Given the description of an element on the screen output the (x, y) to click on. 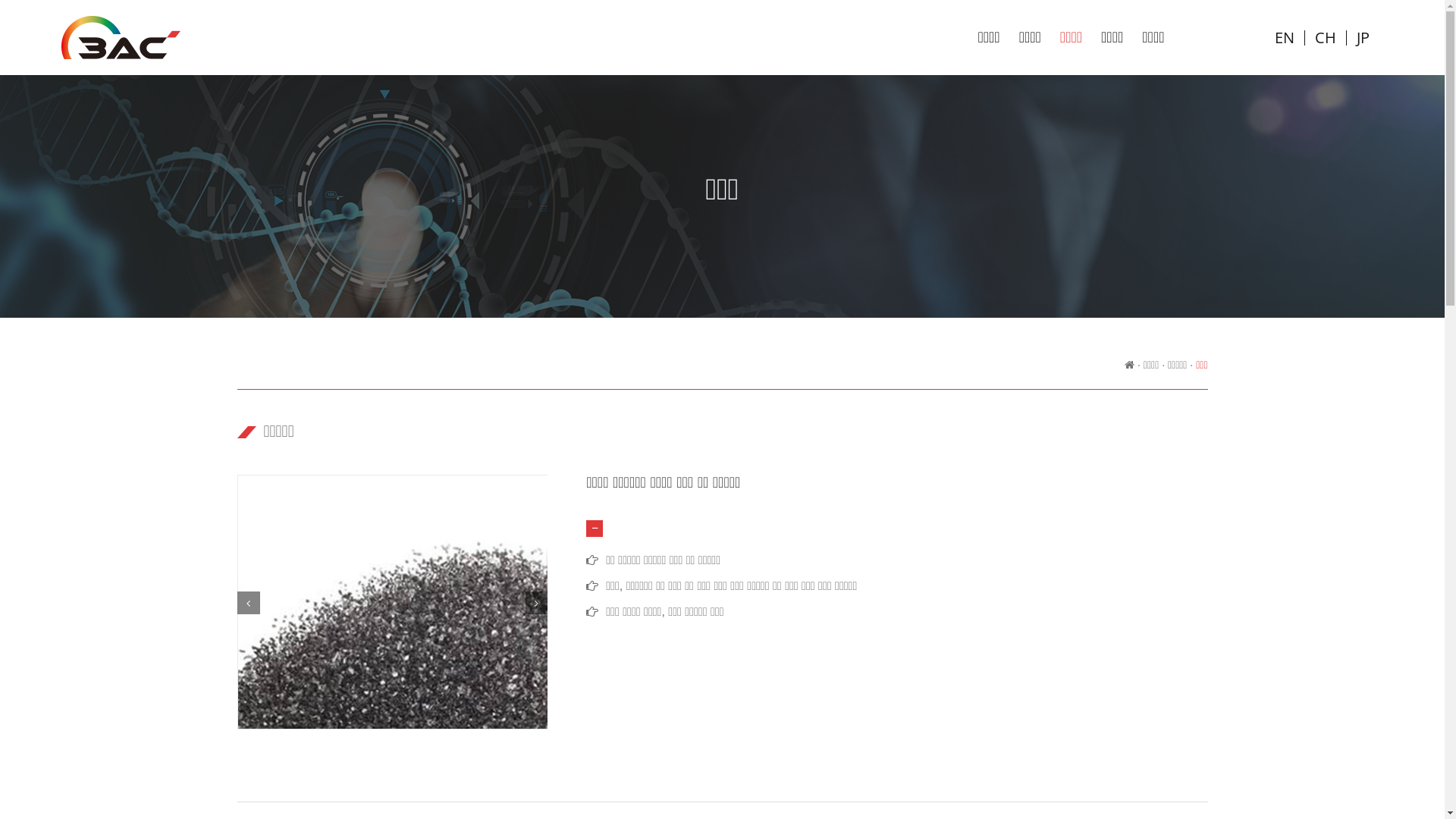
CH Element type: text (1325, 37)
JP Element type: text (1362, 37)
EN Element type: text (1284, 37)
